Given the description of an element on the screen output the (x, y) to click on. 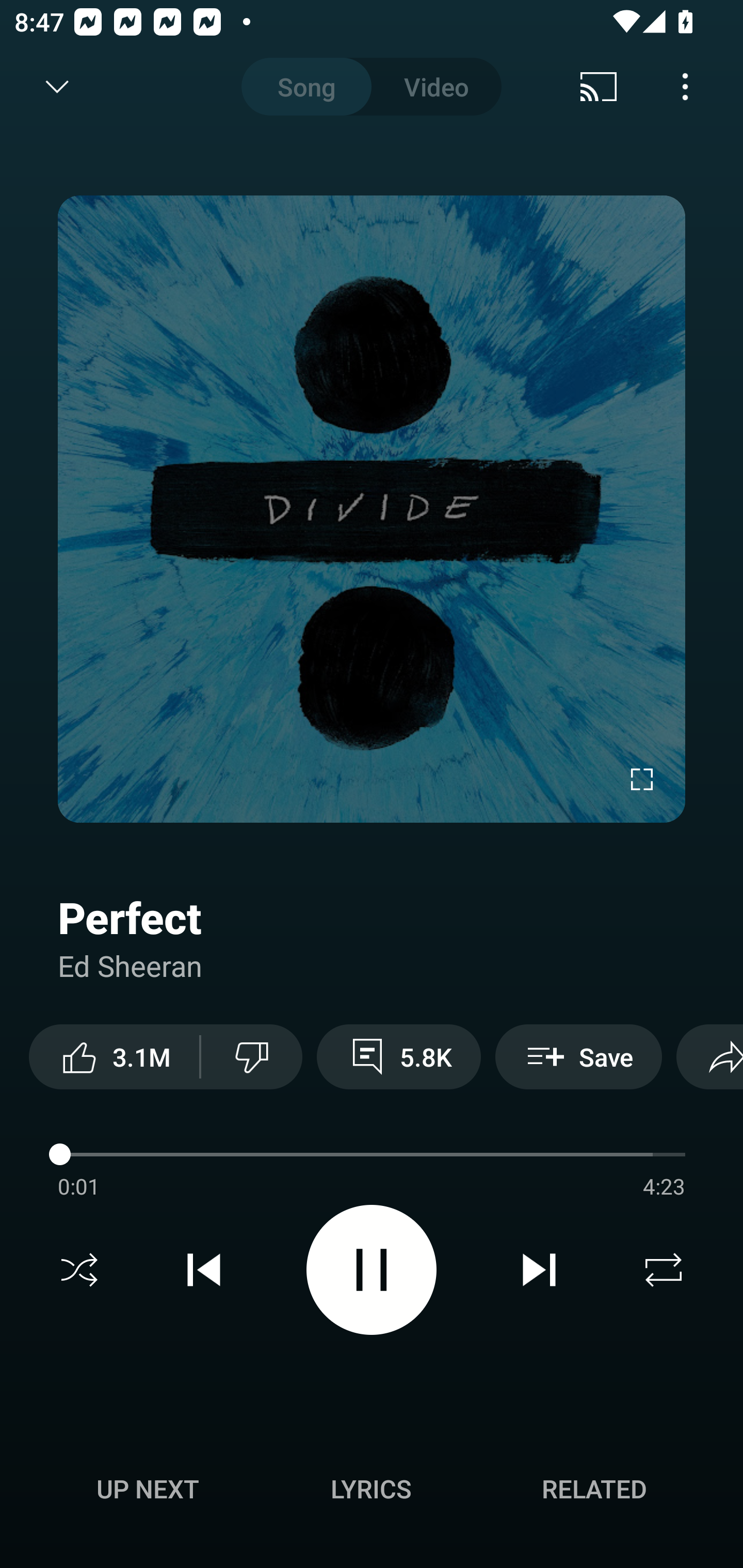
Cast. Disconnected (598, 86)
Menu (684, 86)
Back (50, 86)
Enter fullscreen (641, 779)
Dislike (251, 1056)
5.8K View 5,853 comments (398, 1056)
Save Save to playlist (578, 1056)
Share (709, 1056)
Action menu (371, 1157)
Pause video (371, 1269)
Shuffle off (79, 1269)
Previous track (203, 1269)
Next track (538, 1269)
Repeat off (663, 1269)
Lyrics LYRICS (370, 1488)
Related RELATED (594, 1488)
